Given the description of an element on the screen output the (x, y) to click on. 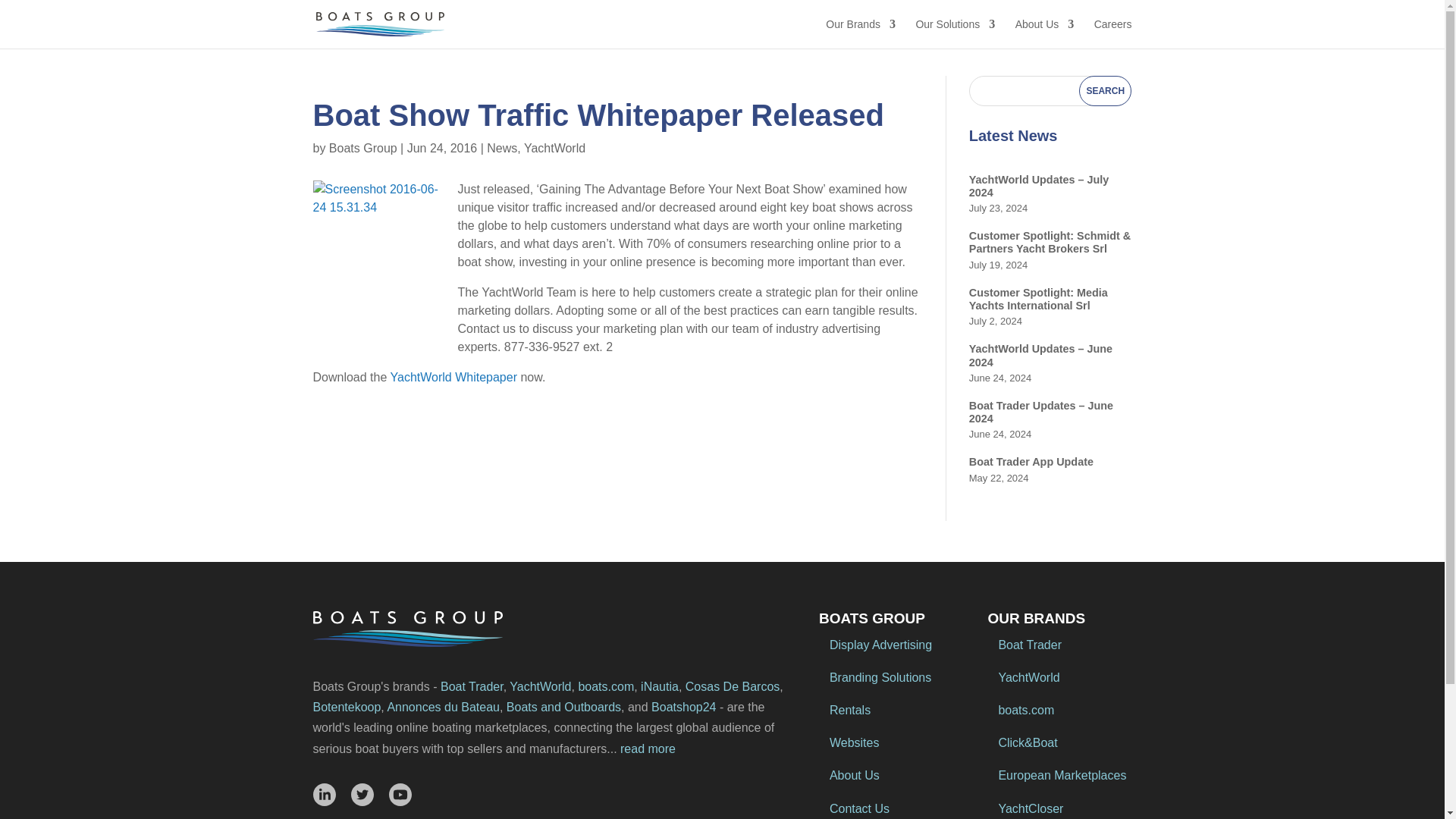
Careers (1113, 33)
Posts by Boats Group (363, 147)
SEARCH (1104, 91)
Our Solutions (954, 33)
YachtWorld (554, 147)
News (501, 147)
Boats Group (363, 147)
About Us (1044, 33)
Our Brands (860, 33)
YachtWorld Whitepaper (454, 377)
